Given the description of an element on the screen output the (x, y) to click on. 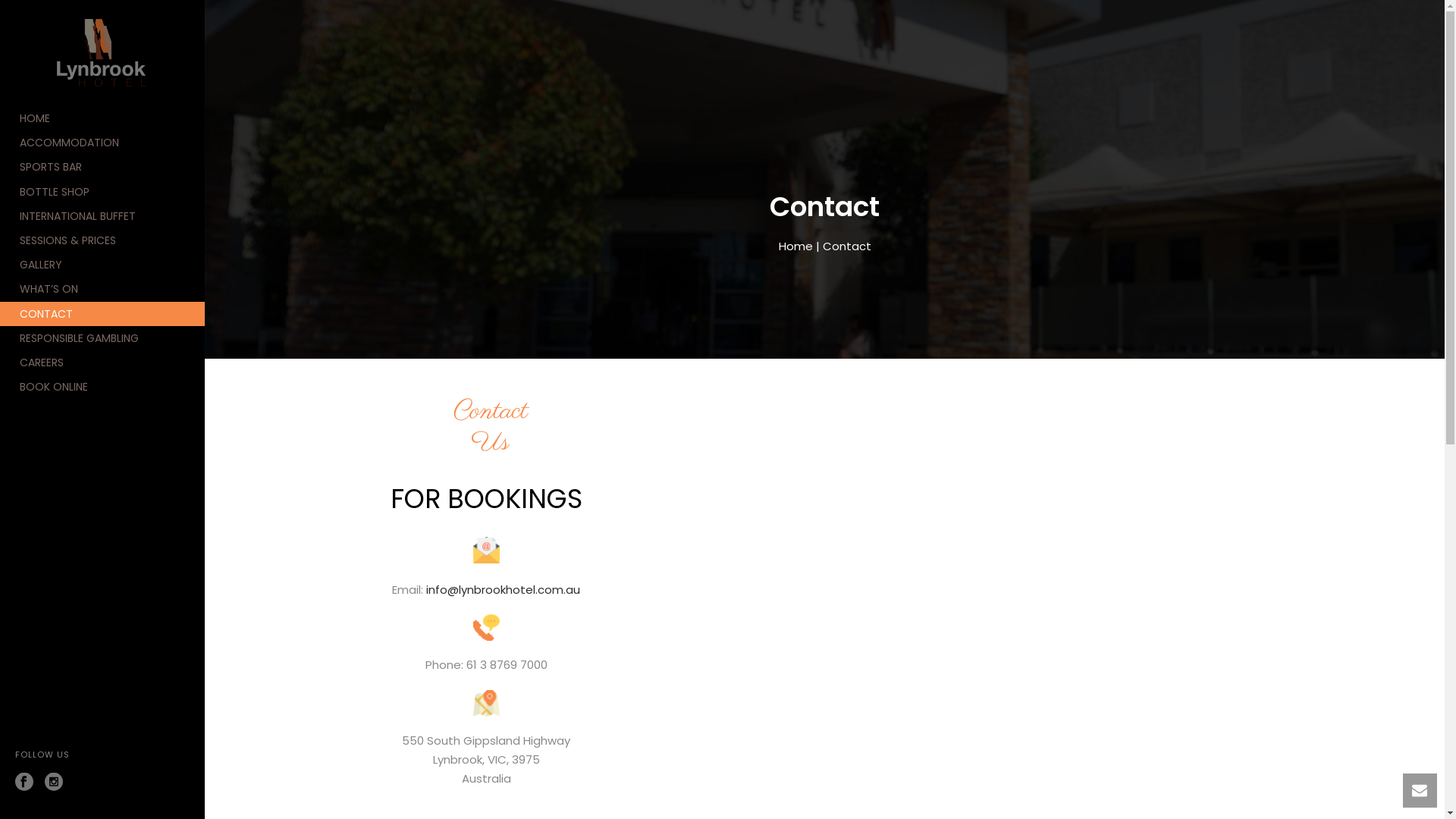
CAREERS Element type: text (102, 362)
BOTTLE SHOP Element type: text (102, 191)
Follow Us on instagram Element type: hover (53, 782)
INTERNATIONAL BUFFET Element type: text (102, 215)
Lynbrook Hotel Element type: hover (102, 52)
ACCOMMODATION Element type: text (102, 142)
RESPONSIBLE GAMBLING Element type: text (102, 338)
SESSIONS & PRICES Element type: text (102, 240)
HOME Element type: text (102, 118)
SPORTS BAR Element type: text (102, 166)
info@lynbrookhotel.com.au Element type: text (503, 589)
CONTACT Element type: text (102, 313)
International Buffet Element type: hover (102, 52)
Follow Us on facebook Element type: hover (24, 782)
BOOK ONLINE Element type: text (102, 386)
GALLERY Element type: text (102, 264)
